Given the description of an element on the screen output the (x, y) to click on. 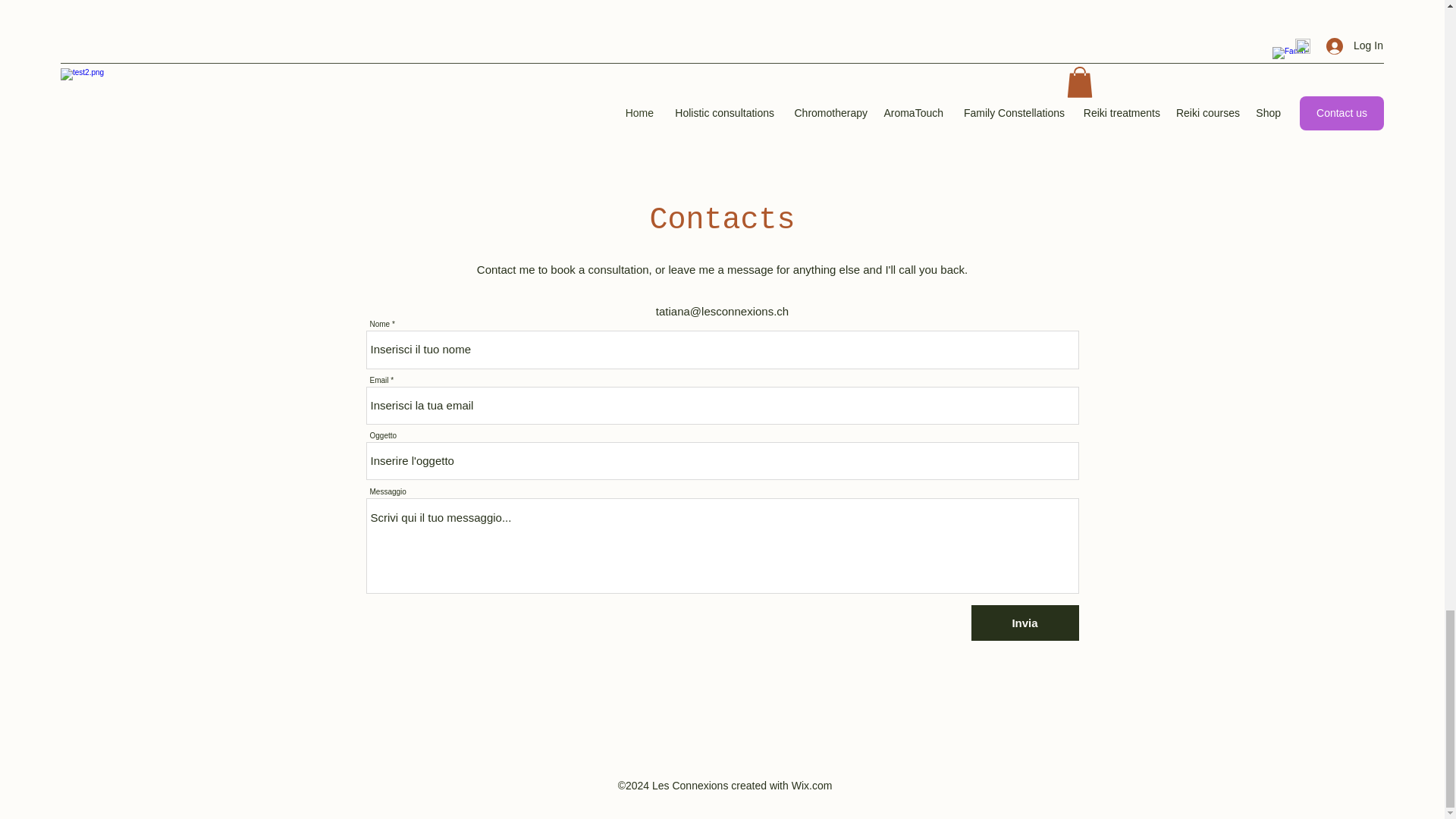
Invia (1024, 622)
